Given the description of an element on the screen output the (x, y) to click on. 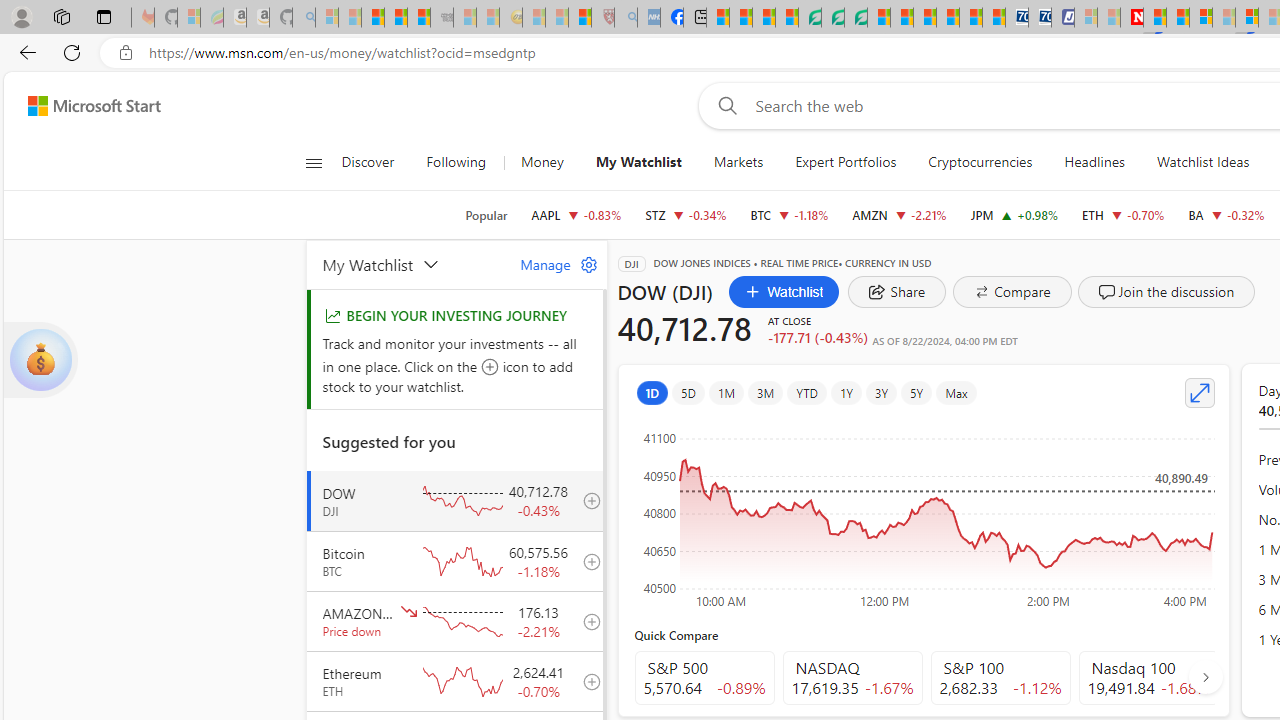
Combat Siege (442, 17)
New Report Confirms 2023 Was Record Hot | Watch (419, 17)
Popular (486, 215)
Expert Portfolios (845, 162)
STZ CONSTELLATION BRANDS, INC. decrease 243.92 -0.82 -0.34% (685, 214)
Headlines (1094, 162)
Terms of Use Agreement (832, 17)
Open navigation menu (313, 162)
Watchlist (784, 291)
